Given the description of an element on the screen output the (x, y) to click on. 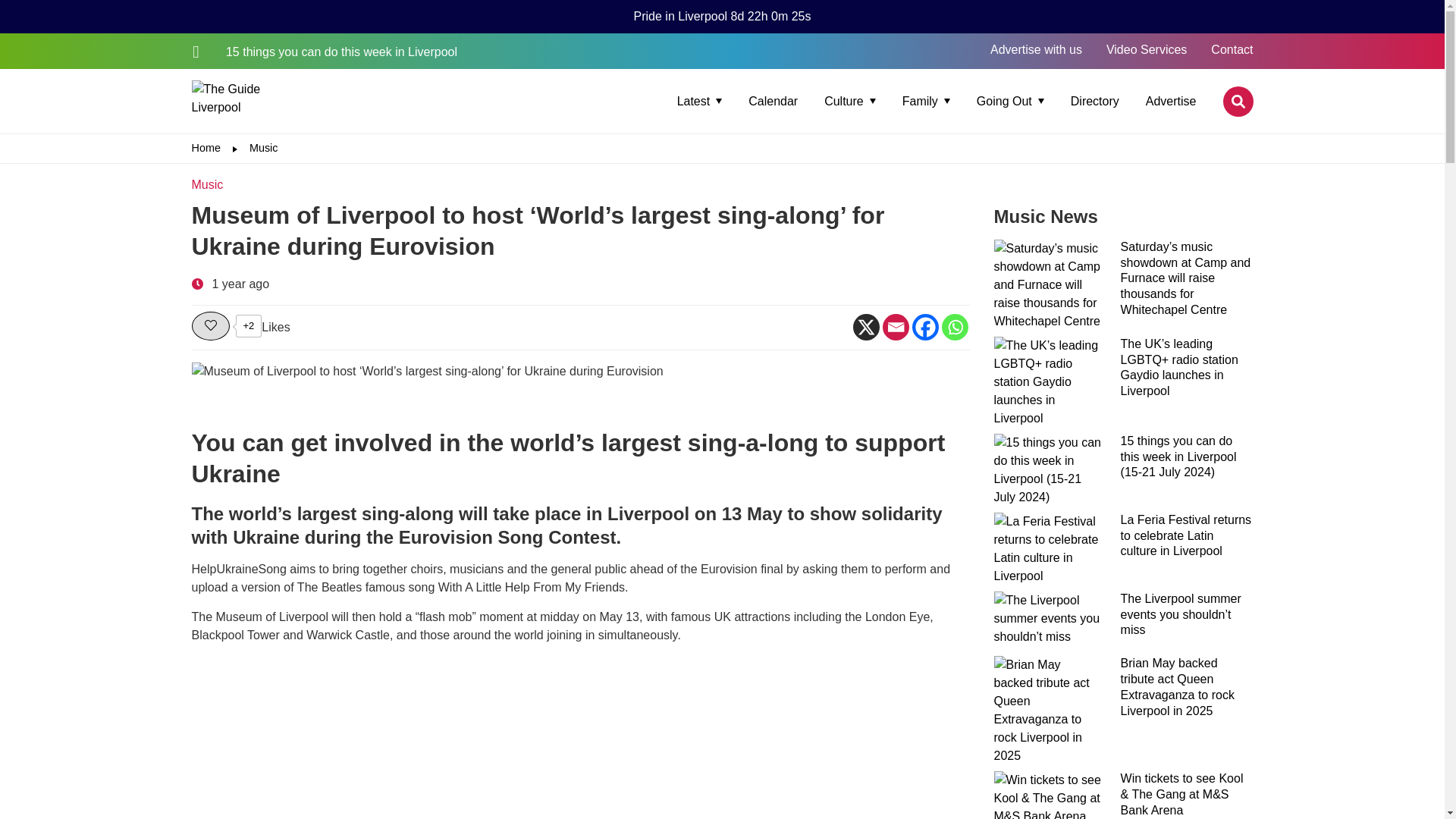
Whatsapp (955, 326)
Email (895, 326)
Advertisement (579, 739)
Advertise with us (1035, 49)
15 things you can do this week in Liverpool (323, 51)
Video Services (1146, 49)
Facebook (924, 326)
Contact (1231, 49)
X (865, 326)
